Given the description of an element on the screen output the (x, y) to click on. 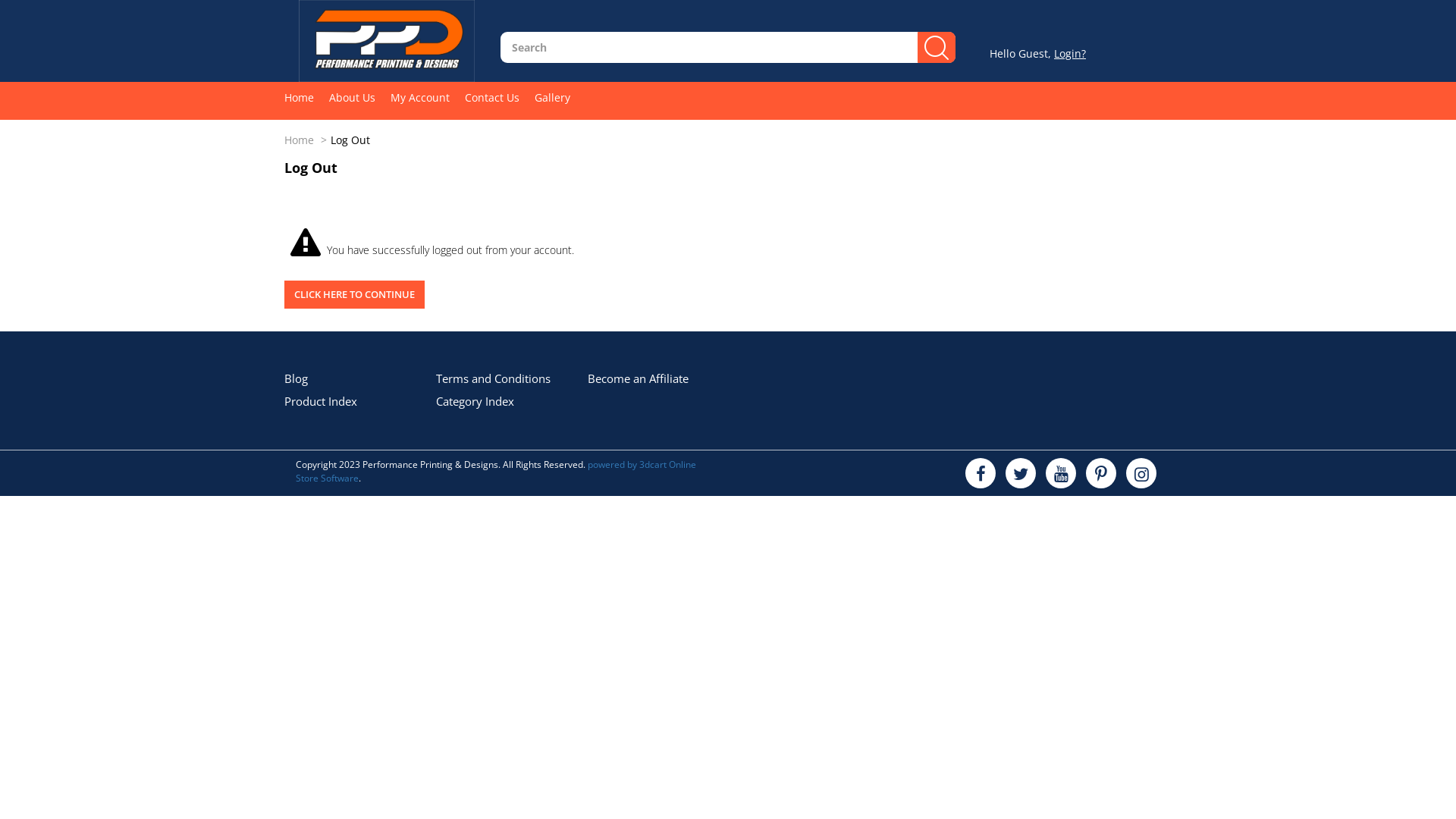
Contact Us Element type: text (499, 96)
Follow Us on Instagram Element type: hover (1141, 473)
Terms and Conditions Element type: text (493, 377)
Login? Element type: text (1069, 53)
My Account Element type: text (427, 96)
Subscribe to our Channel Element type: hover (1060, 473)
Log Out
Log Out Element type: text (350, 139)
Become an Affiliate Element type: text (637, 377)
Submit Element type: text (283, 307)
Click here to continue Element type: text (354, 294)
powered by 3dcart Online Store Software Element type: text (495, 471)
About Us Element type: text (359, 96)
Follow Us on Pinterest Element type: hover (1100, 473)
Like Us on Facebook Element type: hover (980, 473)
Blog Element type: text (295, 377)
Gallery Element type: text (559, 96)
Follow Us on Twitter Element type: hover (1020, 473)
Product Index Element type: text (320, 400)
Category Index Element type: text (475, 400)
Home Element type: text (306, 96)
Home Element type: text (298, 139)
